Given the description of an element on the screen output the (x, y) to click on. 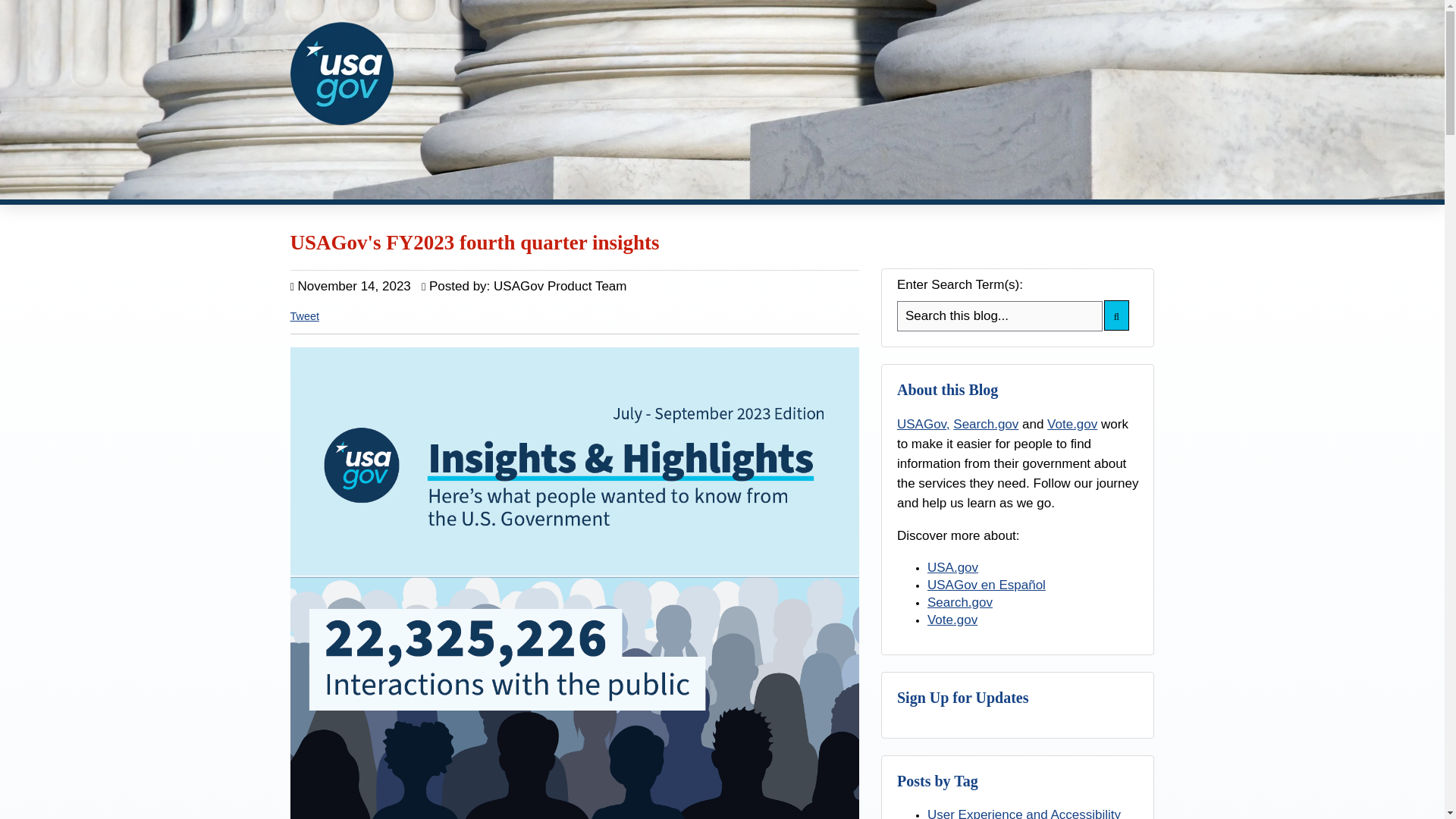
USAGov Logo (341, 73)
Tweet (303, 316)
Vote.gov (1071, 423)
USA.gov (952, 567)
Search.gov (959, 602)
Vote.gov (951, 619)
Search.gov (985, 423)
USAGov, (923, 423)
